Given the description of an element on the screen output the (x, y) to click on. 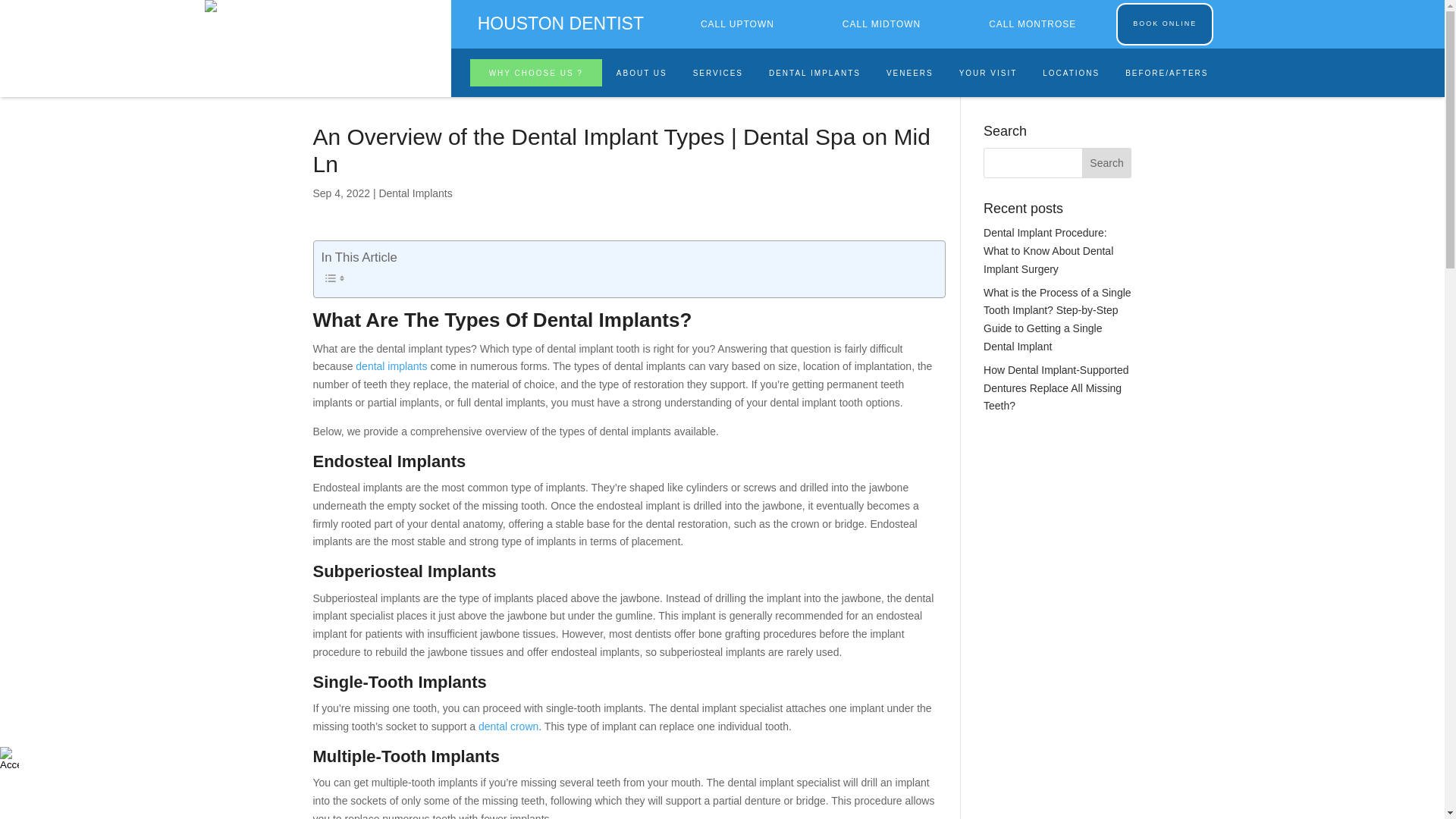
Search (1106, 163)
urban-dental-log-and-google-review-updated (248, 6)
